Given the description of an element on the screen output the (x, y) to click on. 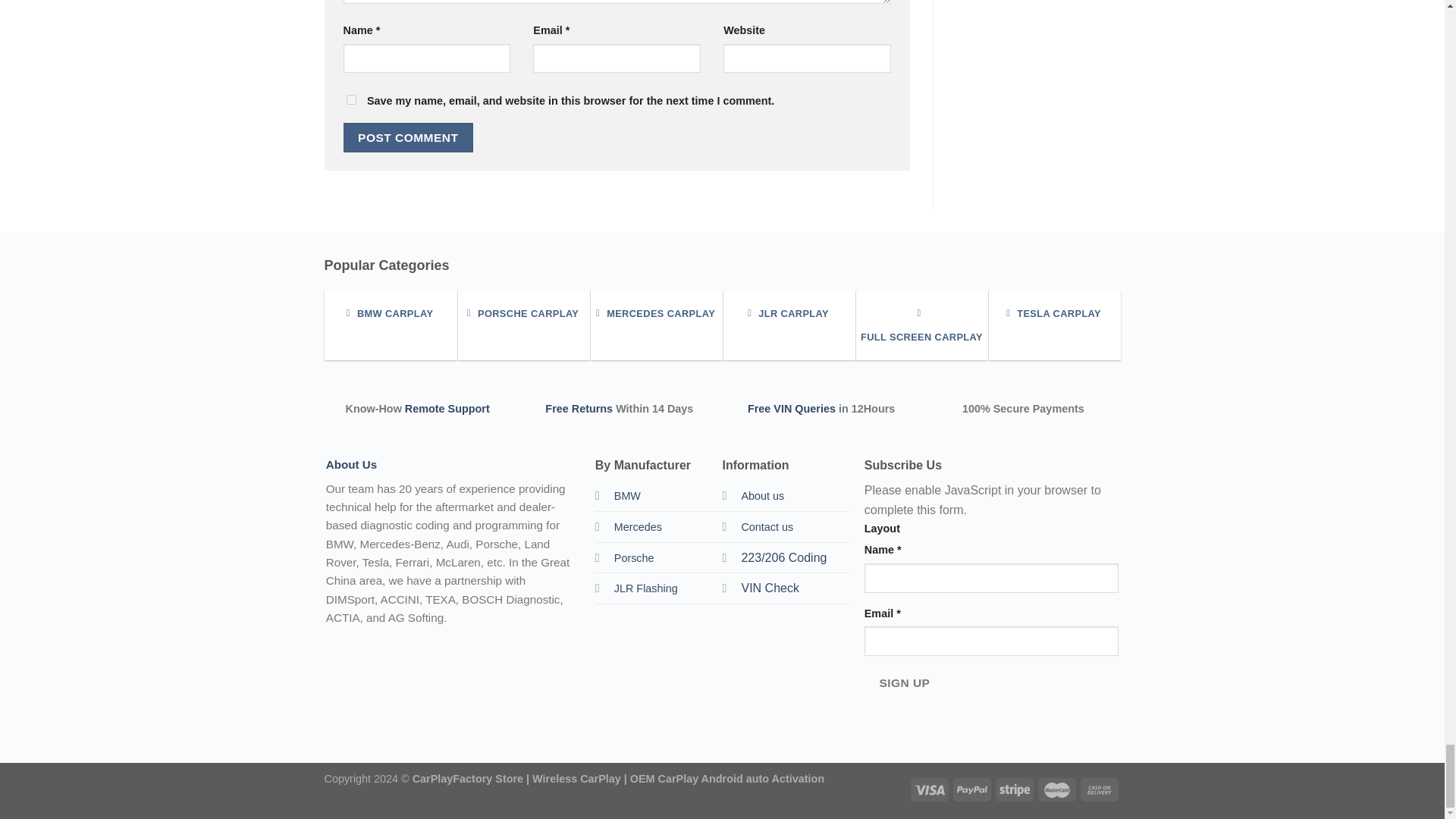
yes (350, 99)
Post Comment (407, 137)
